Given the description of an element on the screen output the (x, y) to click on. 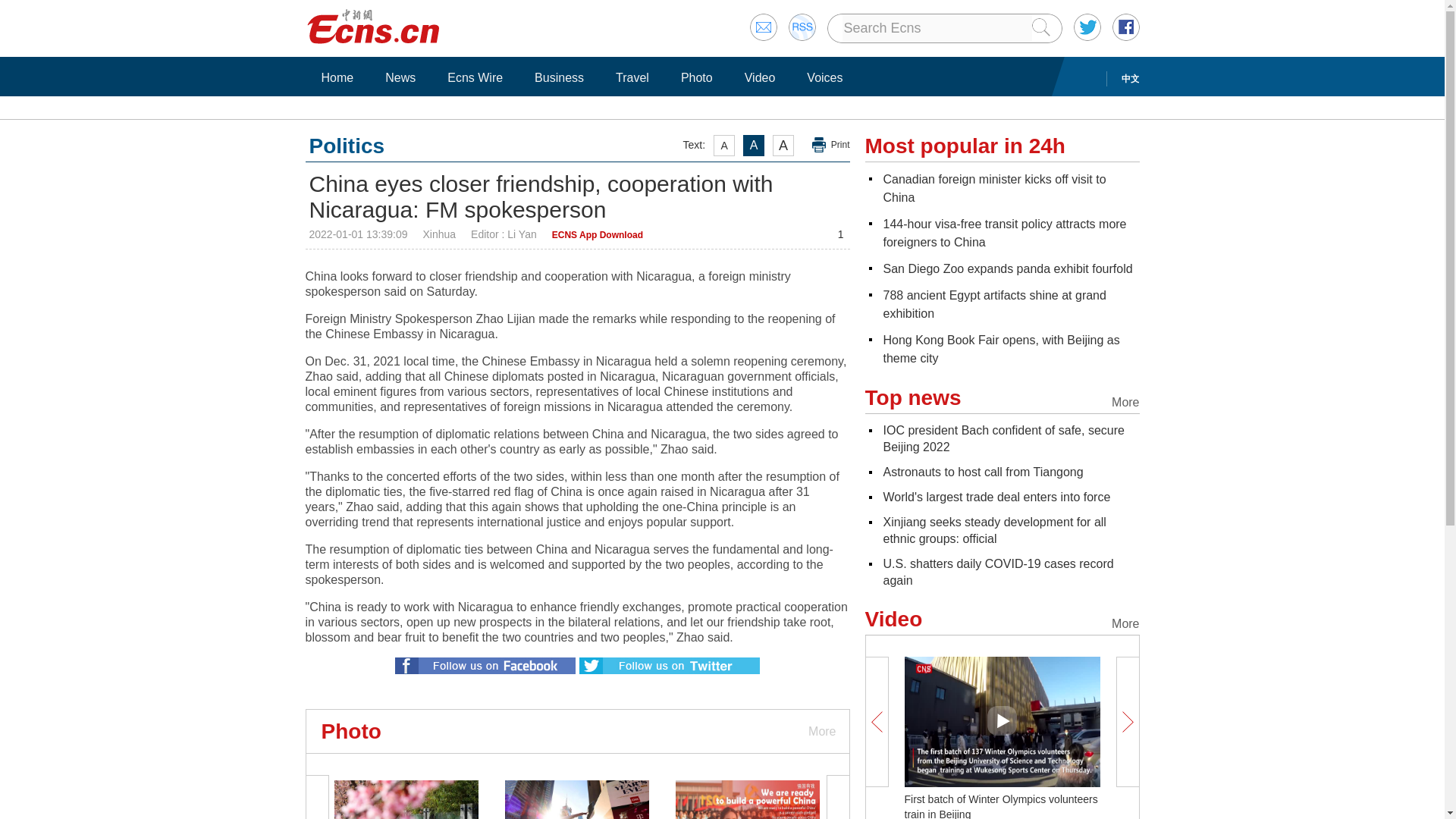
Voices (823, 77)
Ecns Wire (475, 77)
Video (760, 77)
ECNS App Download (597, 235)
Home (337, 77)
Travel (632, 77)
Photo (696, 77)
144-hour (1003, 232)
San (1007, 268)
Search Ecns (935, 27)
Business (558, 77)
Print (831, 144)
788 (993, 304)
Canadian (993, 187)
Hong (1000, 348)
